Given the description of an element on the screen output the (x, y) to click on. 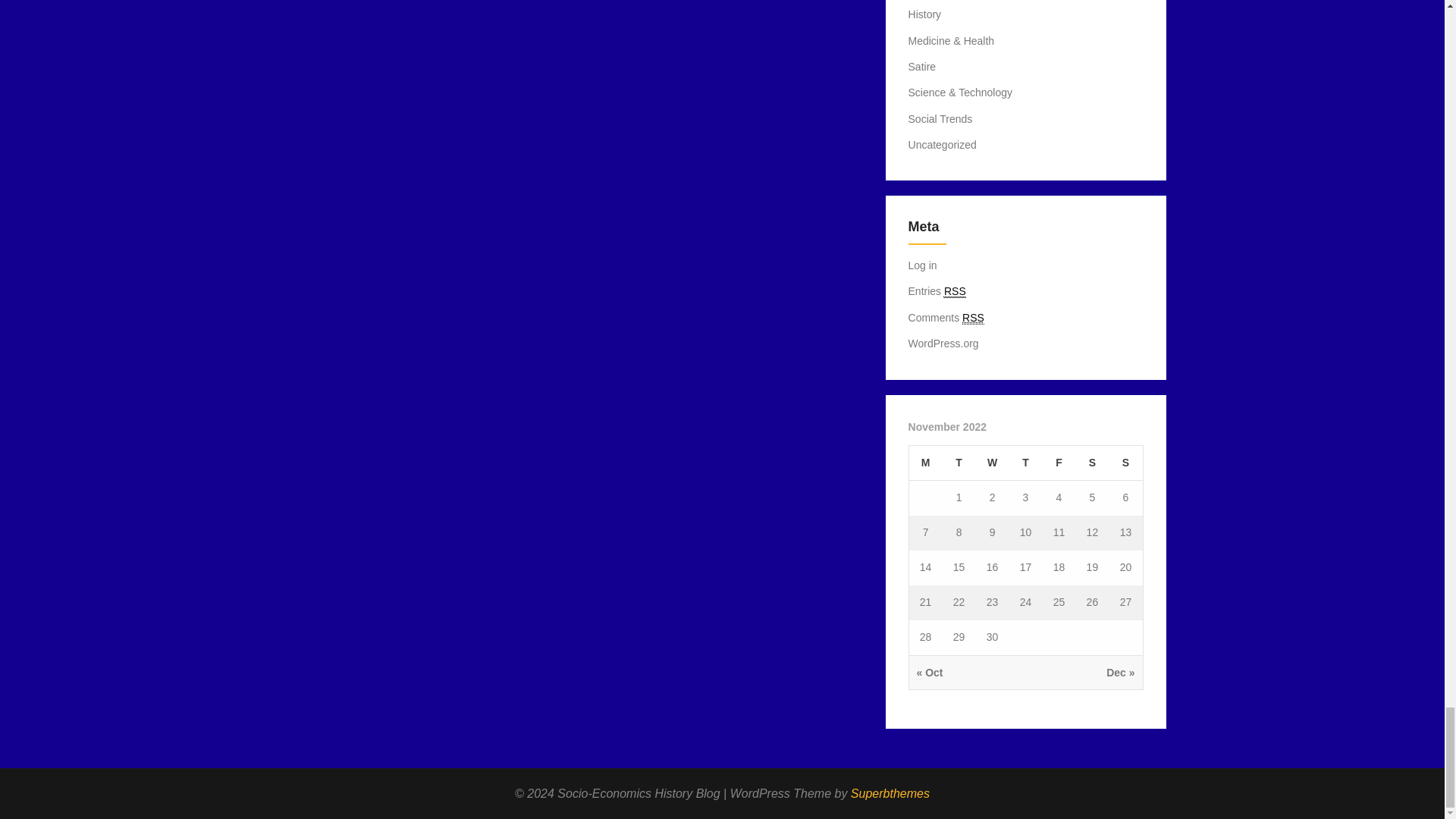
Really Simple Syndication (973, 318)
Friday (1058, 462)
Tuesday (958, 462)
Thursday (1025, 462)
Monday (925, 462)
Really Simple Syndication (954, 291)
Saturday (1091, 462)
Wednesday (992, 462)
Sunday (1125, 462)
